Given the description of an element on the screen output the (x, y) to click on. 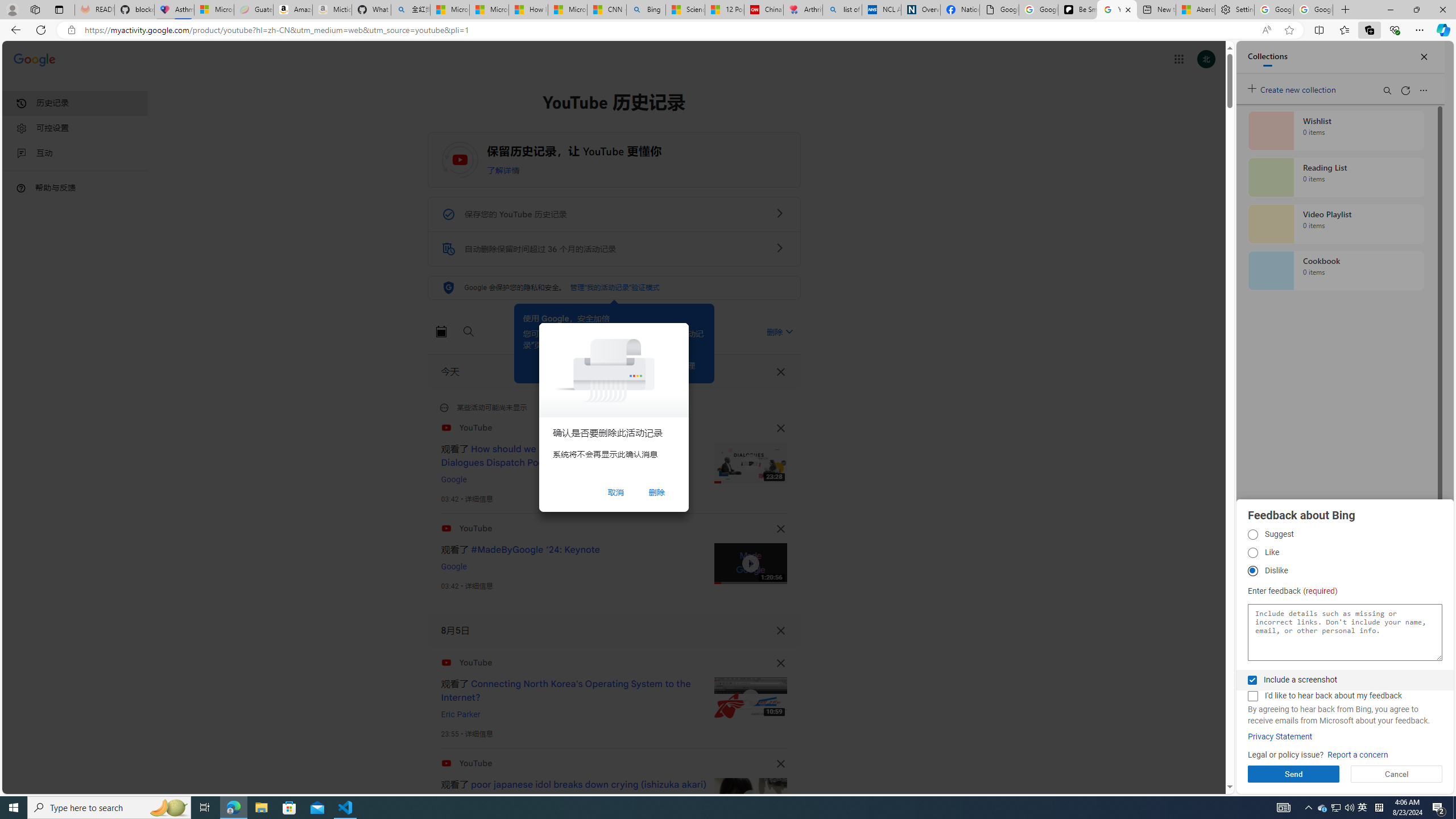
CNN - MSN (606, 9)
AutomationID: fbpgdgsschk (1251, 679)
AutomationID: fbpgdgcmchk (1252, 696)
list of asthma inhalers uk - Search (842, 9)
Like Like (1252, 552)
NCL Adult Asthma Inhaler Choice Guideline (881, 9)
